Given the description of an element on the screen output the (x, y) to click on. 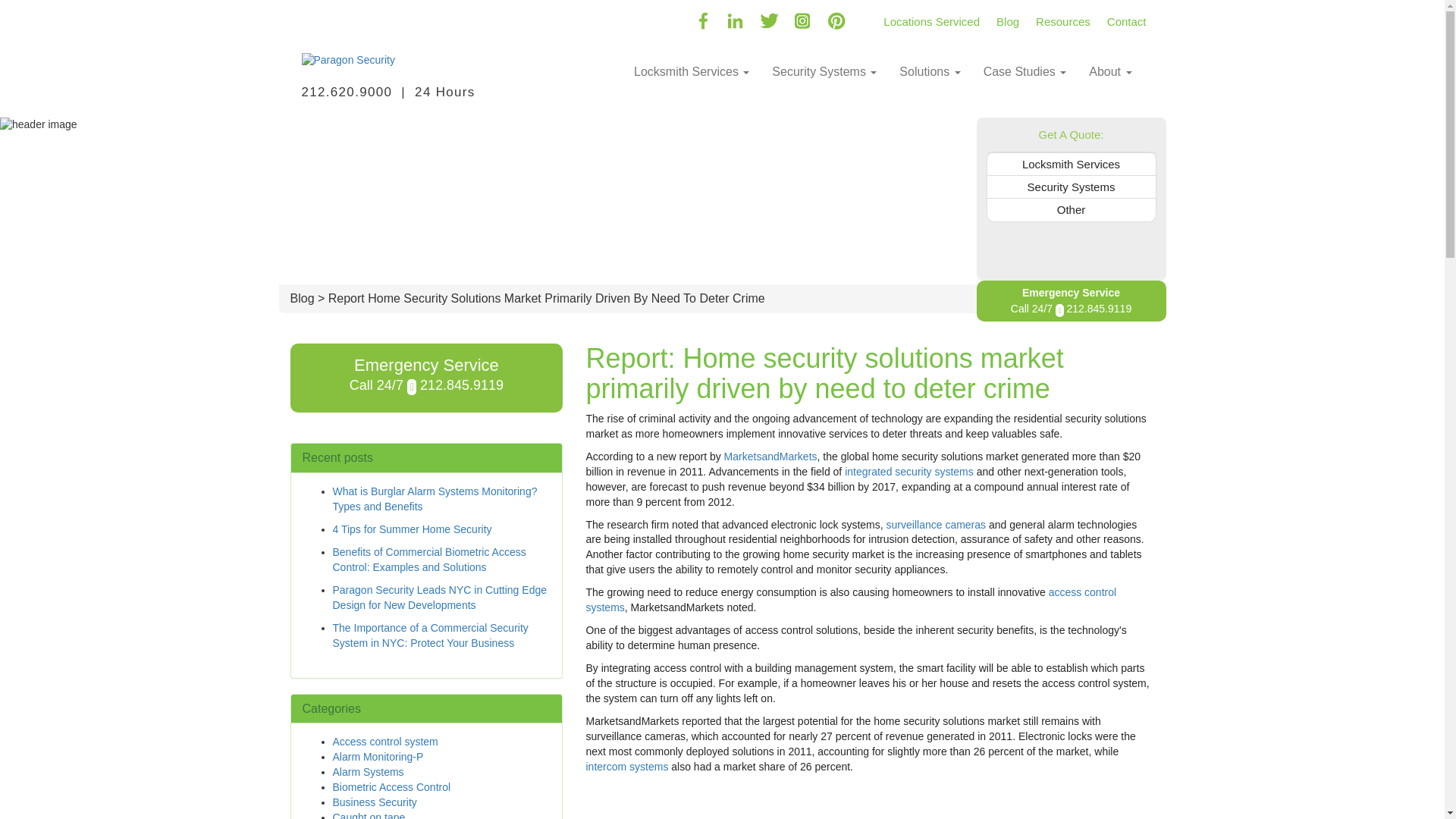
Locksmith Services (691, 71)
Resources (1063, 15)
Locations Serviced (931, 15)
Blog (1007, 15)
212.620.9000 (347, 92)
Contact (1126, 15)
